Given the description of an element on the screen output the (x, y) to click on. 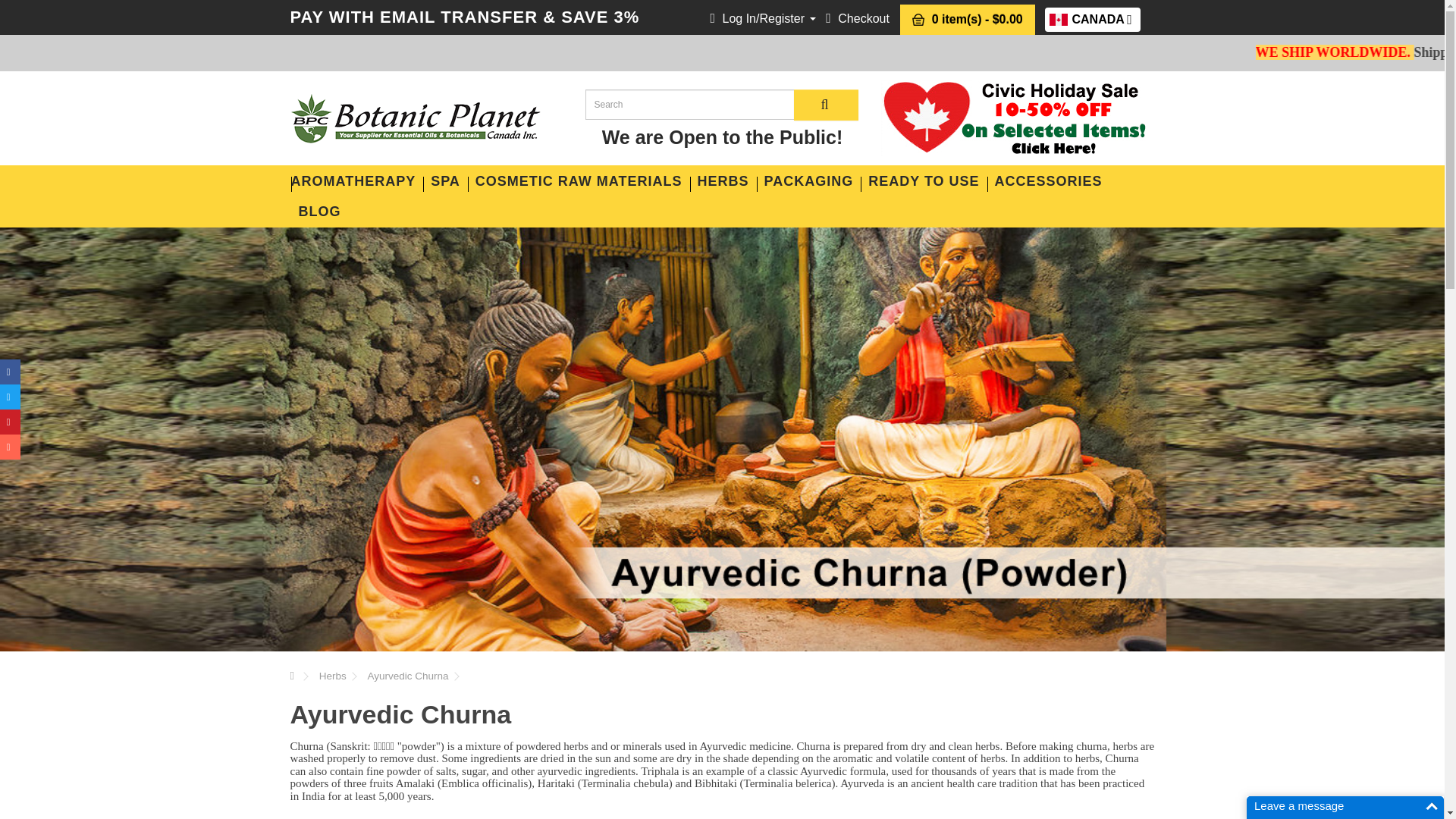
AROMATHERAPY (357, 181)
SPA (445, 181)
My Account (762, 18)
Checkout (857, 18)
Botanic Planet Canada Inc (414, 118)
Checkout (1092, 19)
COSMETIC RAW MATERIALS (857, 18)
